Given the description of an element on the screen output the (x, y) to click on. 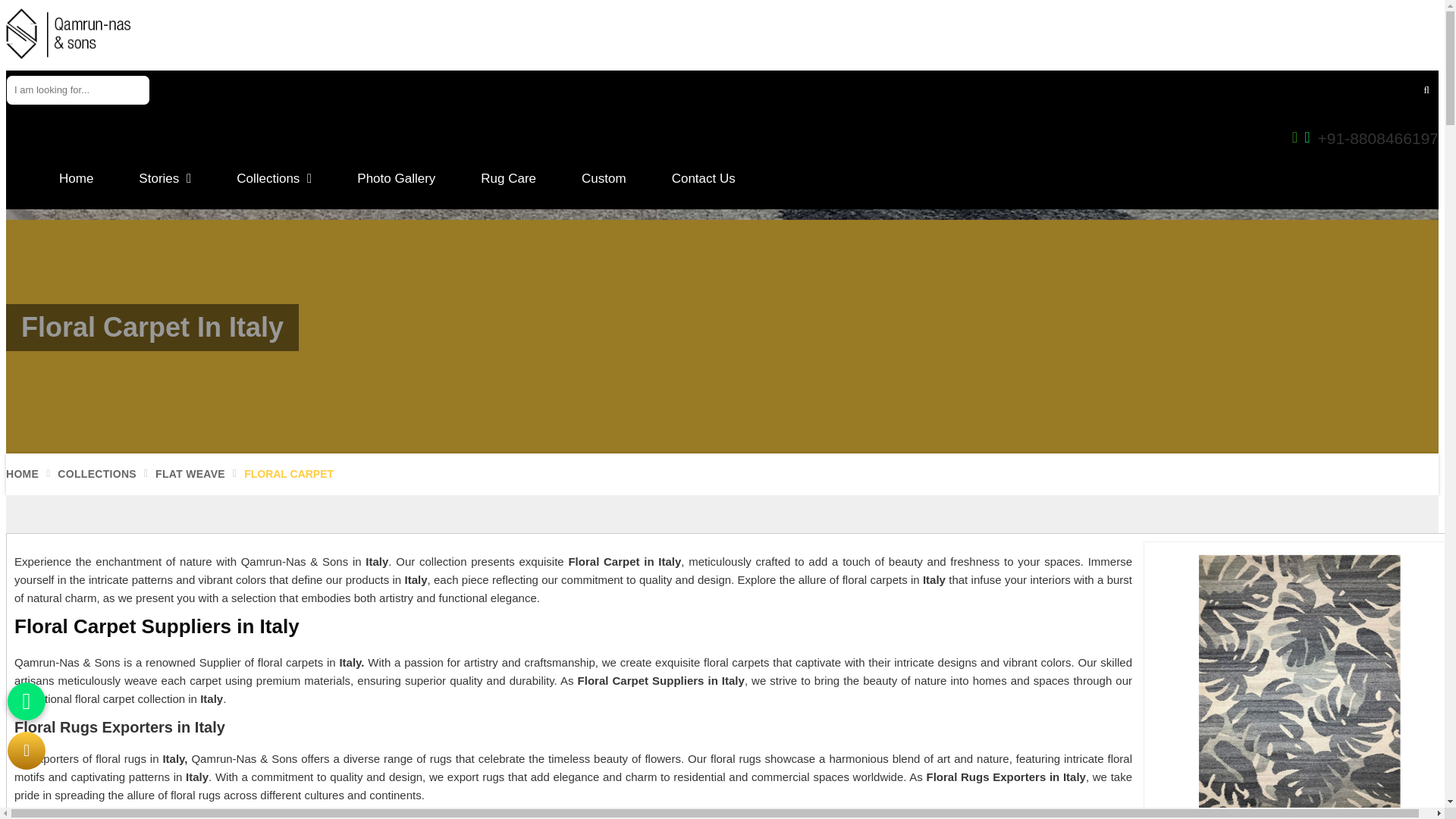
Home (76, 180)
Collections (274, 180)
Home (76, 180)
Stories (165, 180)
Call Us (1365, 138)
Stories (165, 180)
Collections  (274, 180)
